Given the description of an element on the screen output the (x, y) to click on. 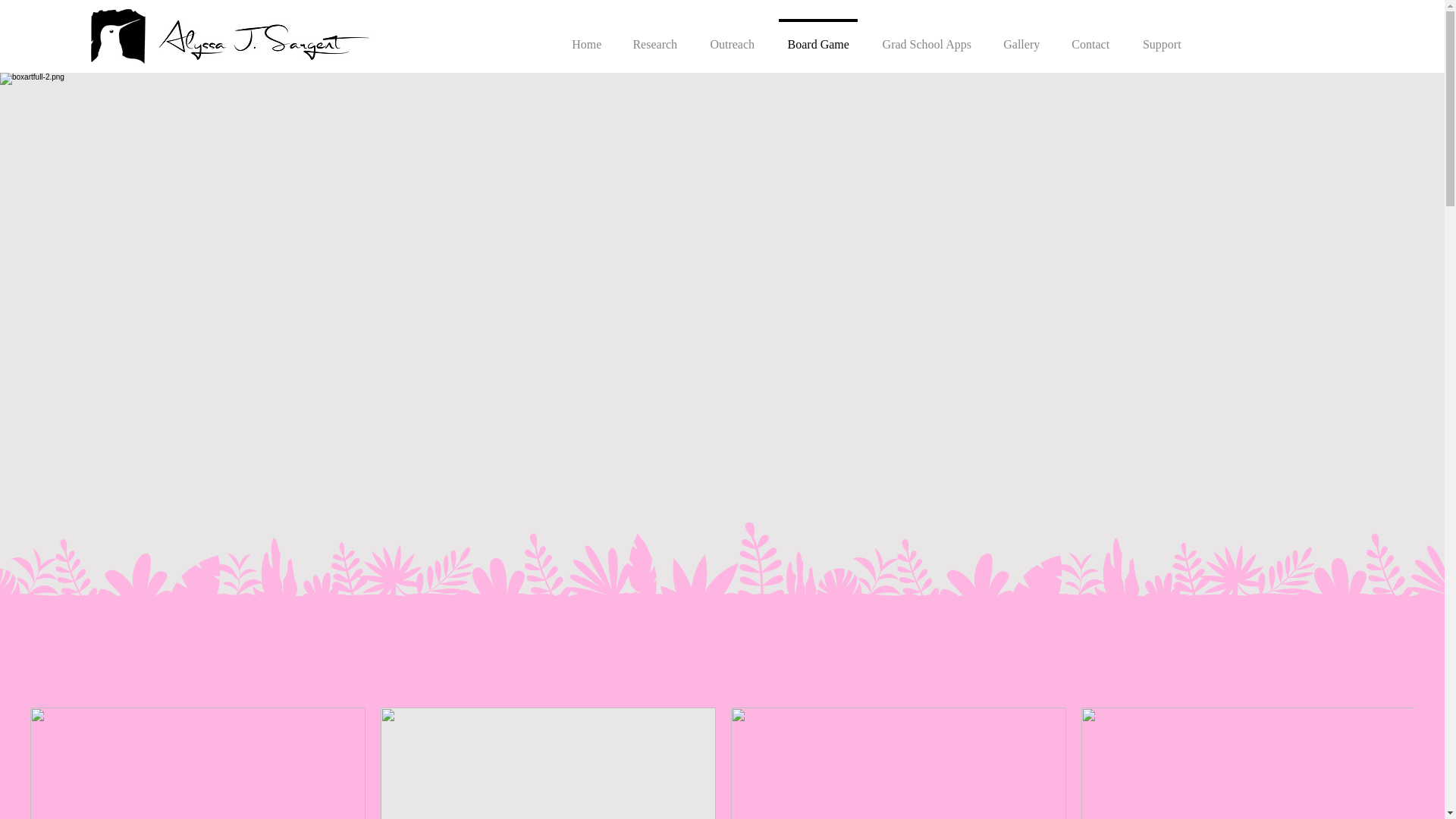
Outreach (732, 37)
Board Game (817, 37)
Research (654, 37)
Gallery (1021, 37)
Contact (1089, 37)
Home (585, 37)
Support (1160, 37)
Grad School Apps (926, 37)
